Given the description of an element on the screen output the (x, y) to click on. 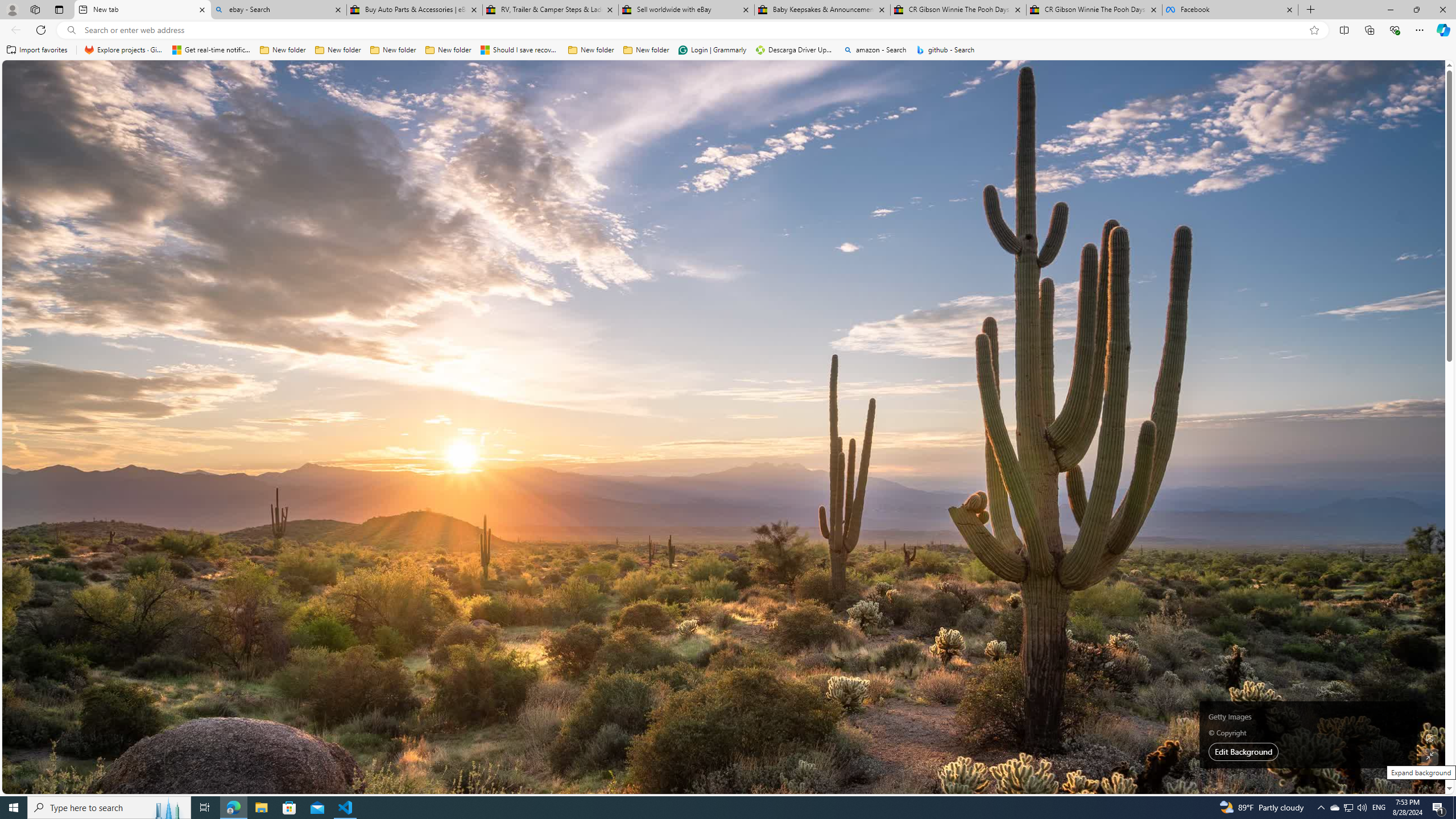
Class: weather-current-precipitation-glyph (1134, 308)
View comments 16 Comment (705, 685)
Feed settings (1128, 151)
AutomationID: backgroundImagePicture (723, 426)
AutomationID: tab-14 (422, 328)
The Washington Post (299, 466)
